Given the description of an element on the screen output the (x, y) to click on. 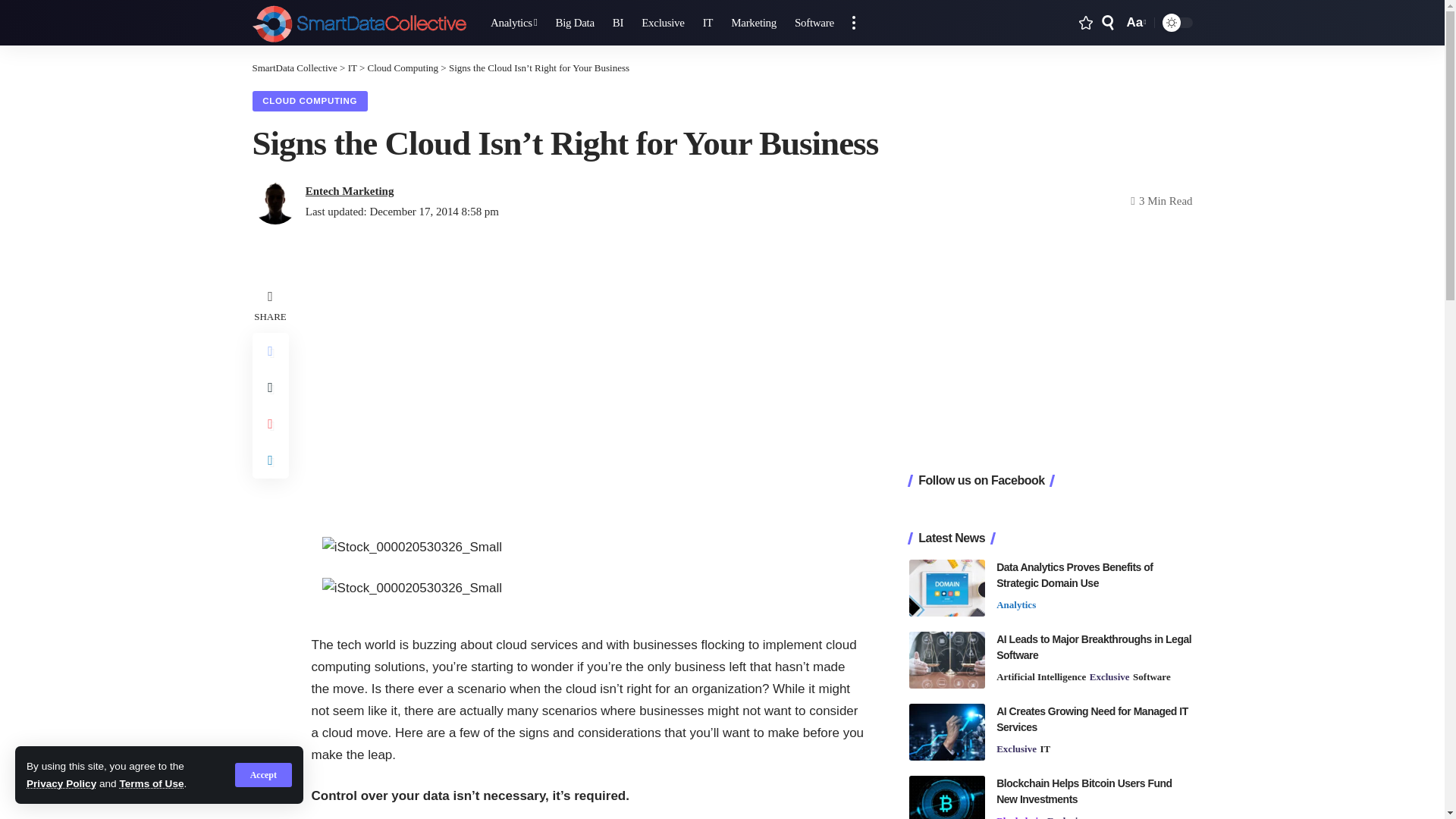
Advertisement (587, 391)
Go to SmartData Collective. (293, 67)
Big Data (574, 22)
Analytics (1133, 23)
Terms of Use (513, 22)
Exclusive (151, 783)
SmartData Collective (662, 22)
Software (358, 22)
Privacy Policy (814, 22)
Accept (61, 783)
Go to the Cloud Computing Category archives. (263, 774)
Marketing (403, 67)
